Given the description of an element on the screen output the (x, y) to click on. 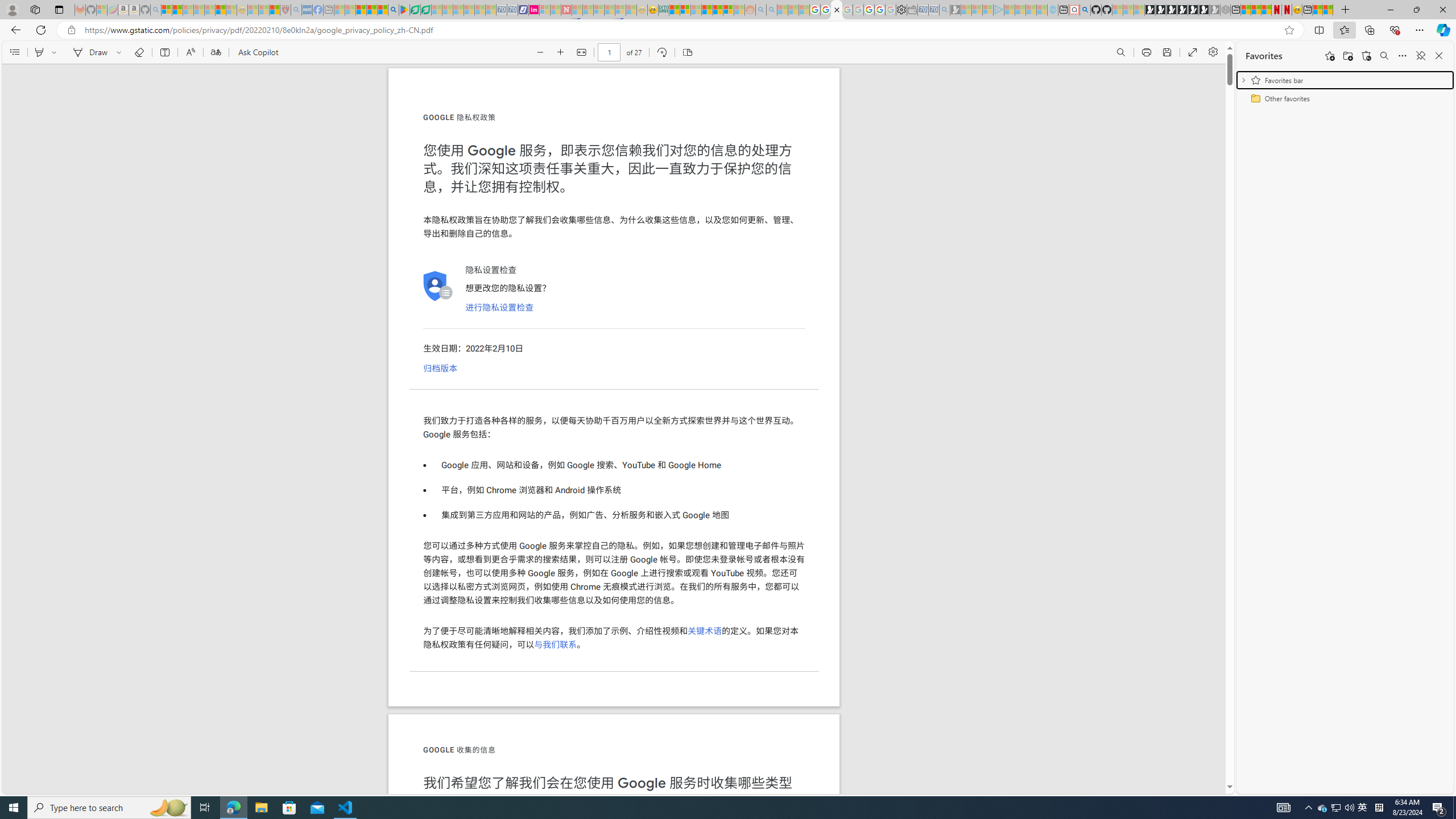
Expert Portfolios (707, 9)
Wildlife - MSN (1317, 9)
Read aloud (189, 52)
Microsoft Word - consumer-privacy address update 2.2021 (426, 9)
